Given the description of an element on the screen output the (x, y) to click on. 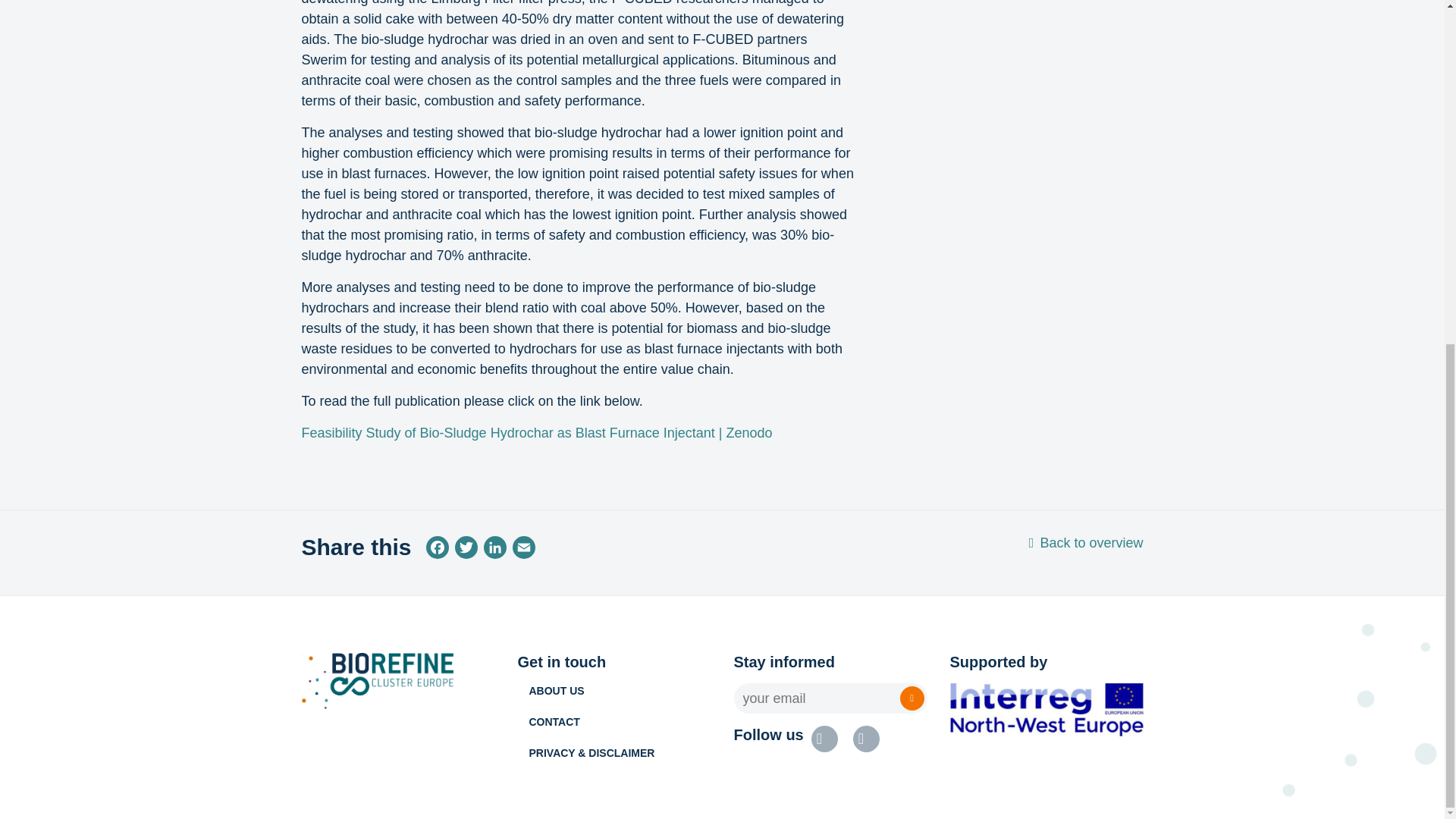
CONTACT (620, 728)
ABOUT US (620, 696)
Email (523, 551)
Back to overview (1085, 542)
Facebook (437, 551)
Facebook (437, 551)
Twitter (465, 551)
LinkedIn (494, 551)
LinkedIn (494, 551)
Twitter (465, 551)
